Given the description of an element on the screen output the (x, y) to click on. 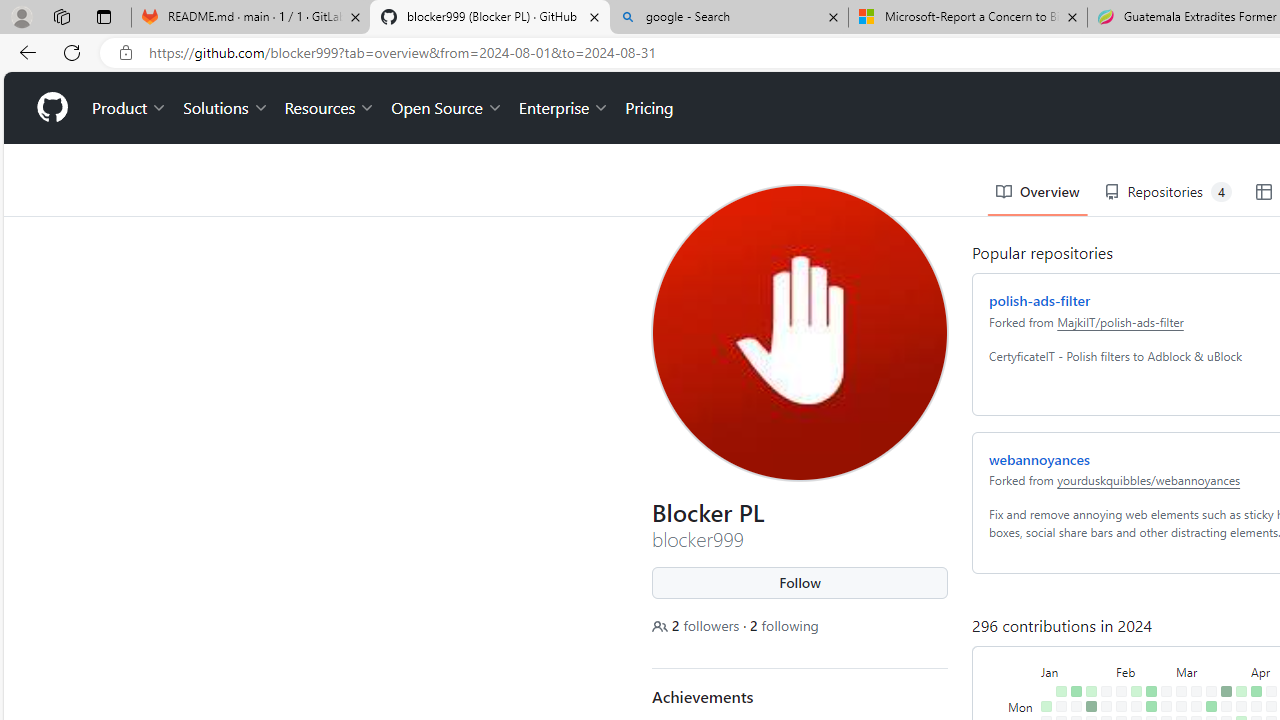
No contributions on January 31st. (1102, 664)
@blocker999 (663, 23)
January (1072, 598)
Achievement: Pull Shark (807, 679)
No contributions on March 25th. (1222, 634)
Thursday (1017, 678)
3 contributions on April 19th. (1267, 694)
No contributions on February 12th. (1131, 634)
2 contributions on April 18th. (1267, 678)
5 contributions on April 7th. (1252, 619)
No contributions on April 10th. (1252, 664)
Import favorites (65, 88)
No contributions on February 5th. (1117, 634)
Repositories 4 (1163, 120)
